Given the description of an element on the screen output the (x, y) to click on. 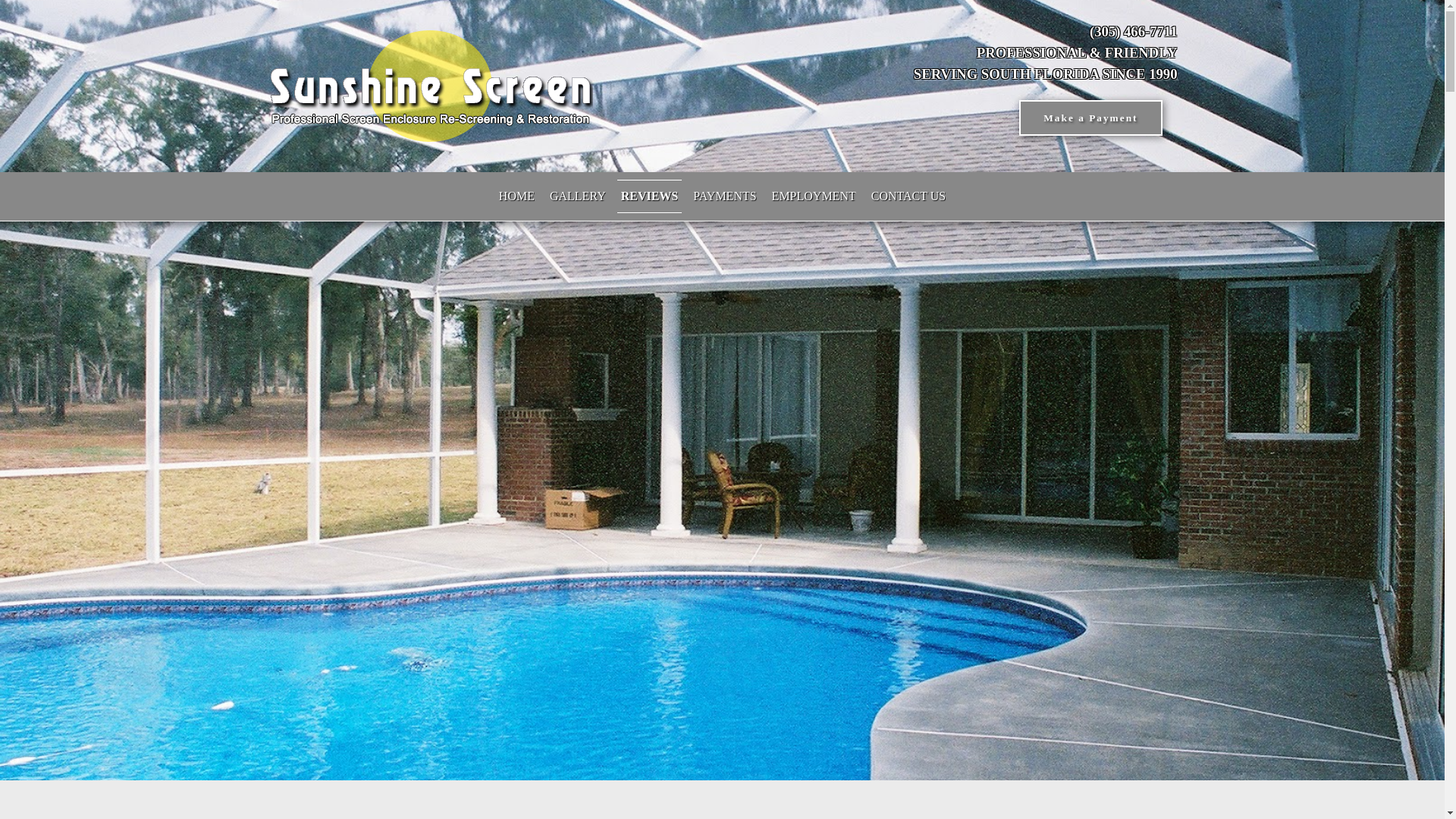
CONTACT US (908, 195)
Make a Payment (1090, 117)
EMPLOYMENT (814, 195)
GALLERY (578, 195)
REVIEWS (649, 195)
Sunshine Screen (429, 85)
PAYMENTS (724, 195)
HOME (516, 195)
